Given the description of an element on the screen output the (x, y) to click on. 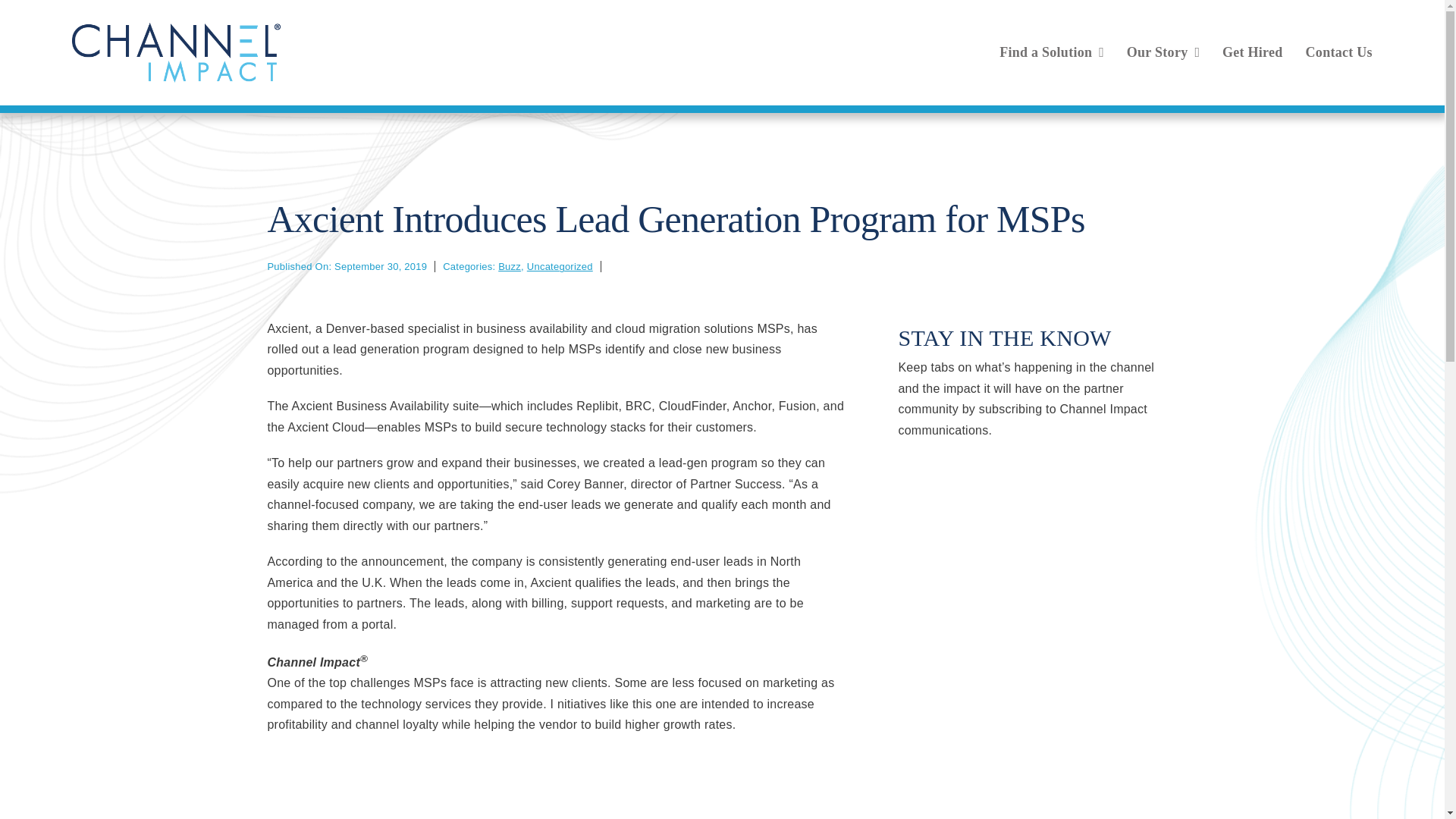
Our Story (1157, 52)
Contact Us (1339, 52)
Buzz (509, 266)
Get Hired (1252, 52)
Find a Solution (1045, 52)
Uncategorized (559, 266)
